Given the description of an element on the screen output the (x, y) to click on. 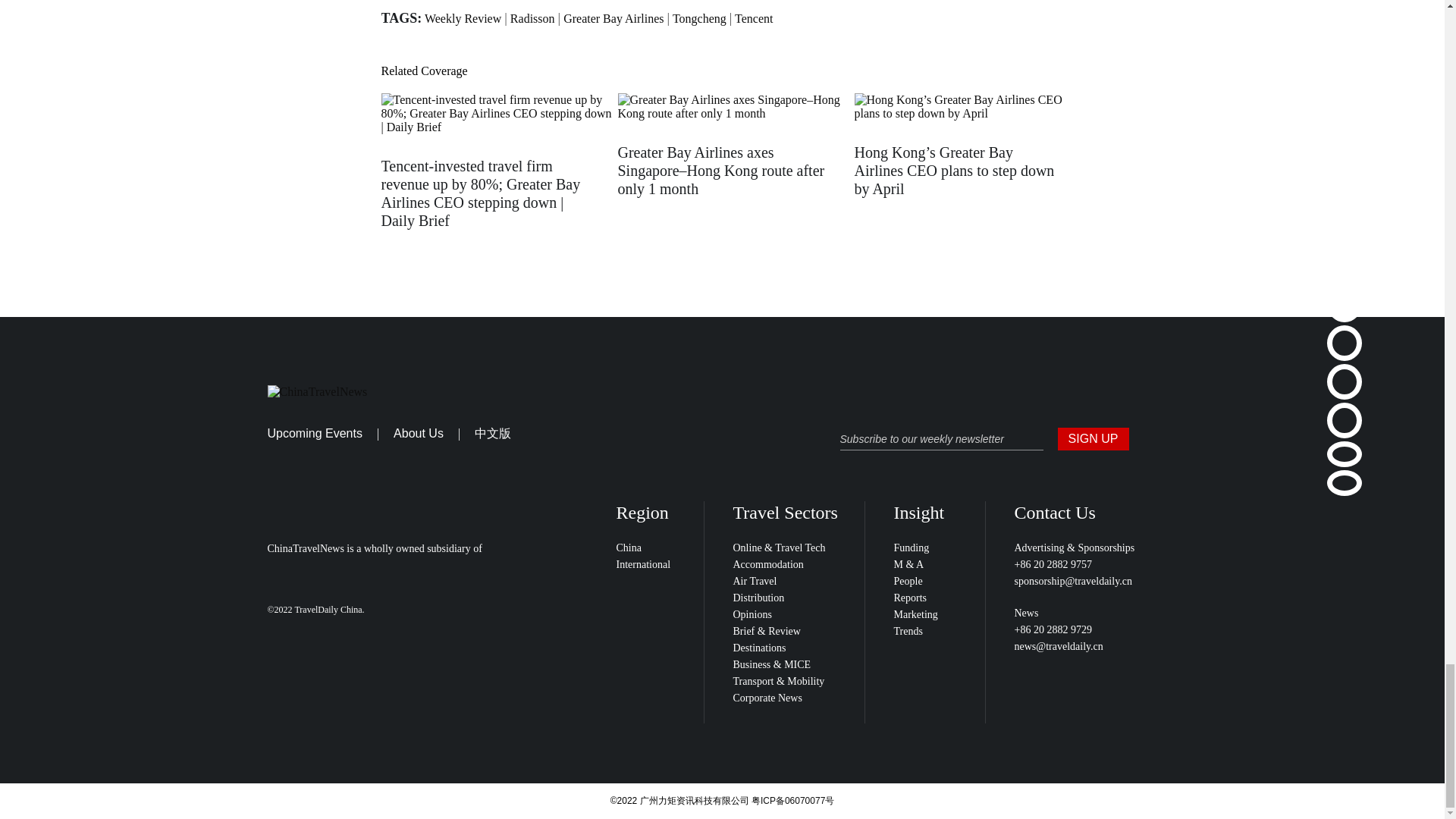
SIGN UP (1092, 438)
Weekly Review (462, 18)
Greater Bay Airlines (613, 18)
Tongcheng (699, 18)
Radisson (532, 18)
